Given the description of an element on the screen output the (x, y) to click on. 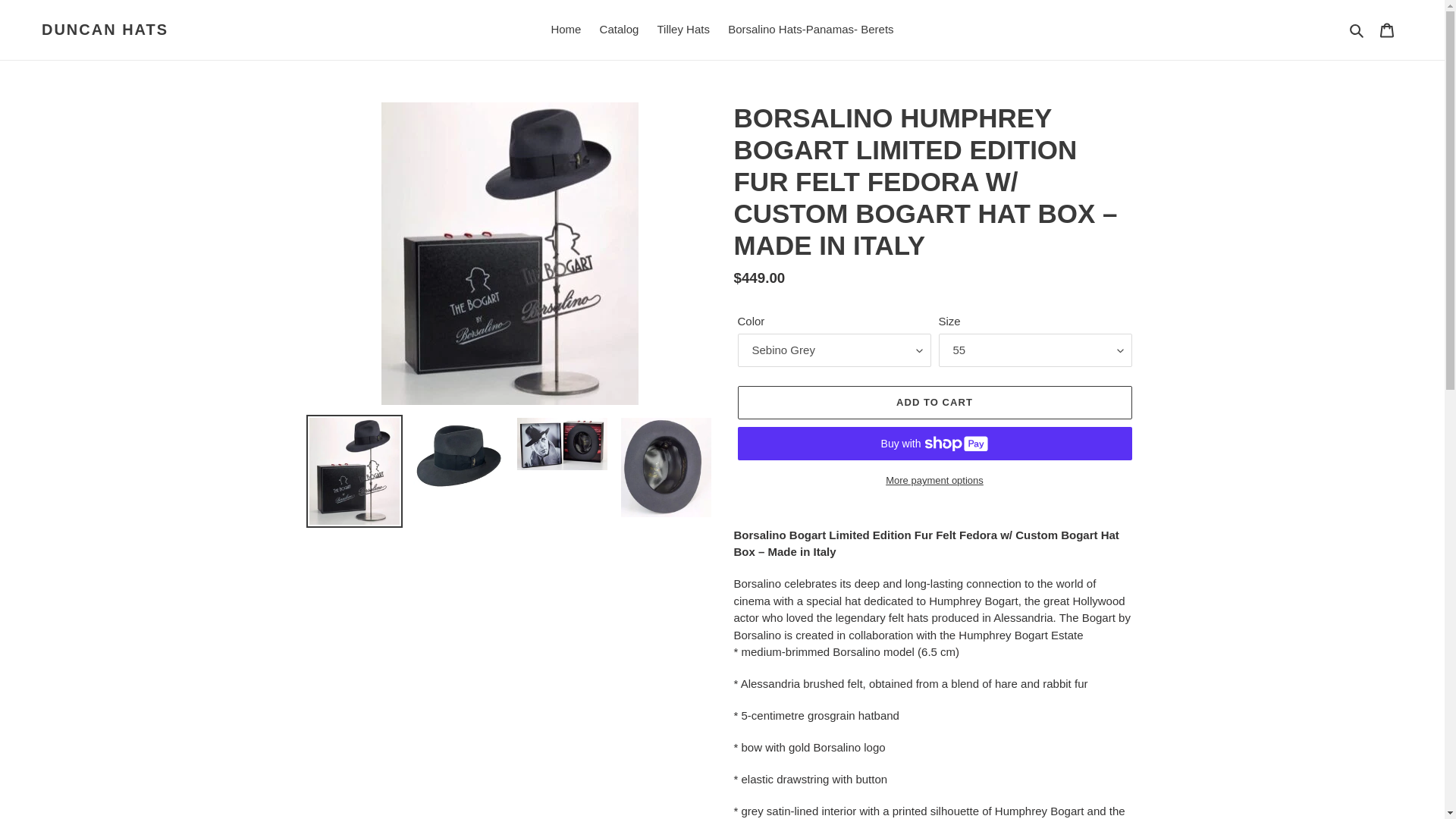
Cart (1387, 29)
More payment options (933, 480)
DUNCAN HATS (105, 29)
Tilley Hats (682, 29)
Catalog (619, 29)
Home (565, 29)
Borsalino Hats-Panamas- Berets (810, 29)
ADD TO CART (933, 402)
Search (1357, 29)
